Given the description of an element on the screen output the (x, y) to click on. 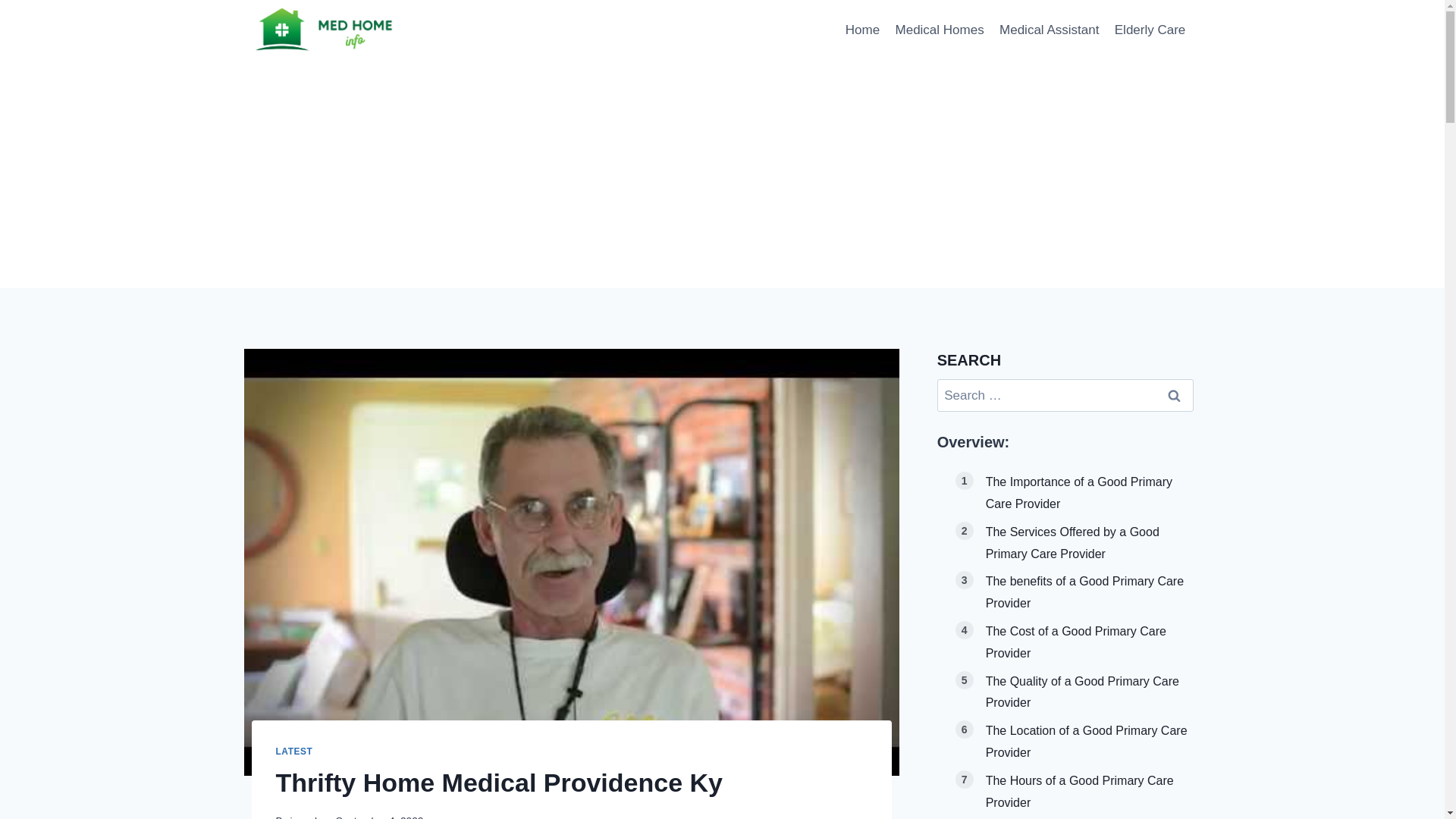
LATEST (294, 751)
Search (1174, 395)
Medical Assistant (1048, 30)
Search (1174, 395)
Elderly Care (1149, 30)
joseph (304, 816)
Medical Homes (938, 30)
Home (863, 30)
